Given the description of an element on the screen output the (x, y) to click on. 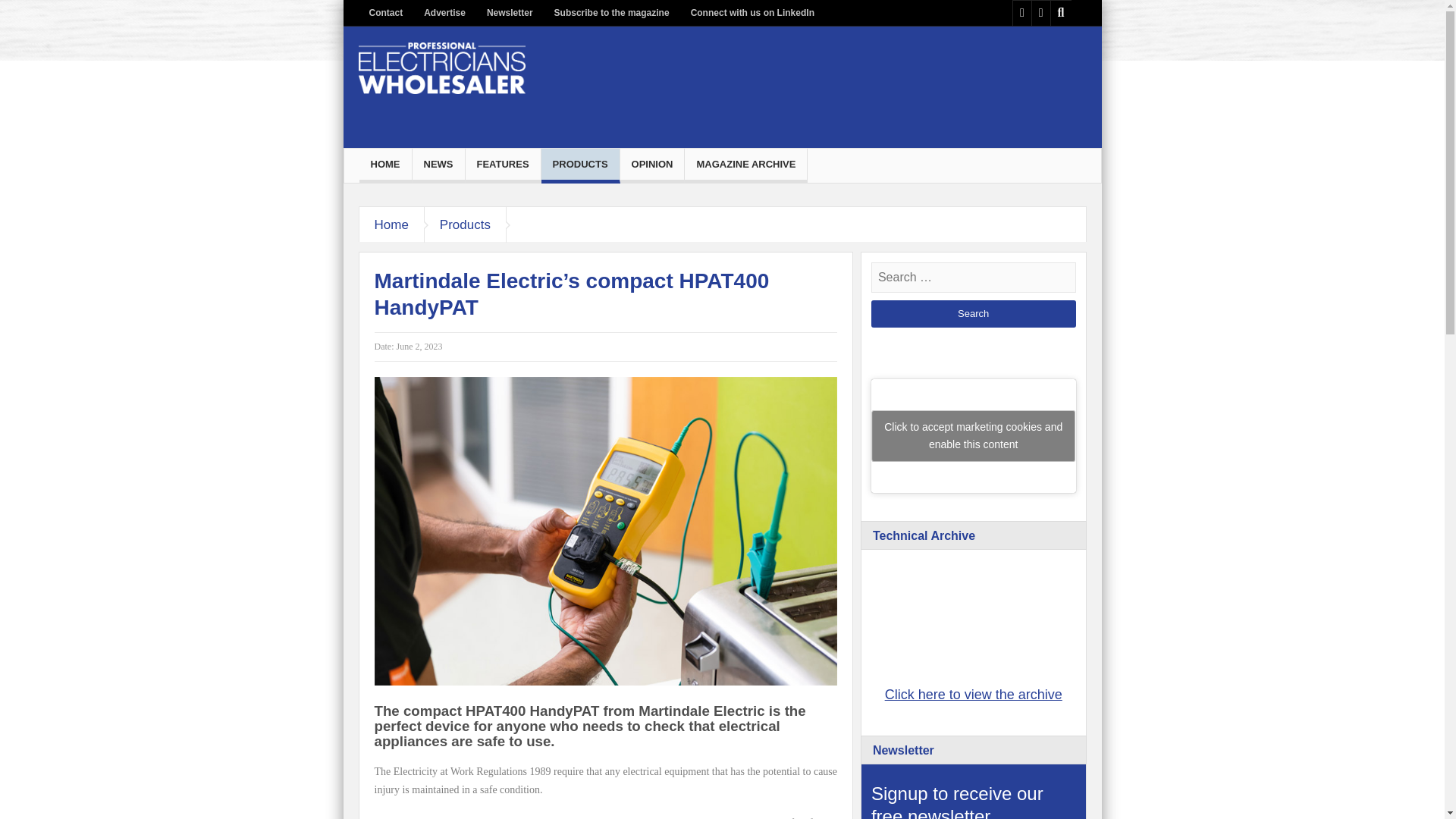
Connect with us on LinkedIn (752, 13)
Newsletter (509, 13)
Products (465, 224)
Subscribe to the magazine (611, 13)
Home (392, 224)
OPINION (652, 163)
FEATURES (502, 163)
Search (972, 313)
PRODUCTS (580, 163)
Search (972, 313)
